Given the description of an element on the screen output the (x, y) to click on. 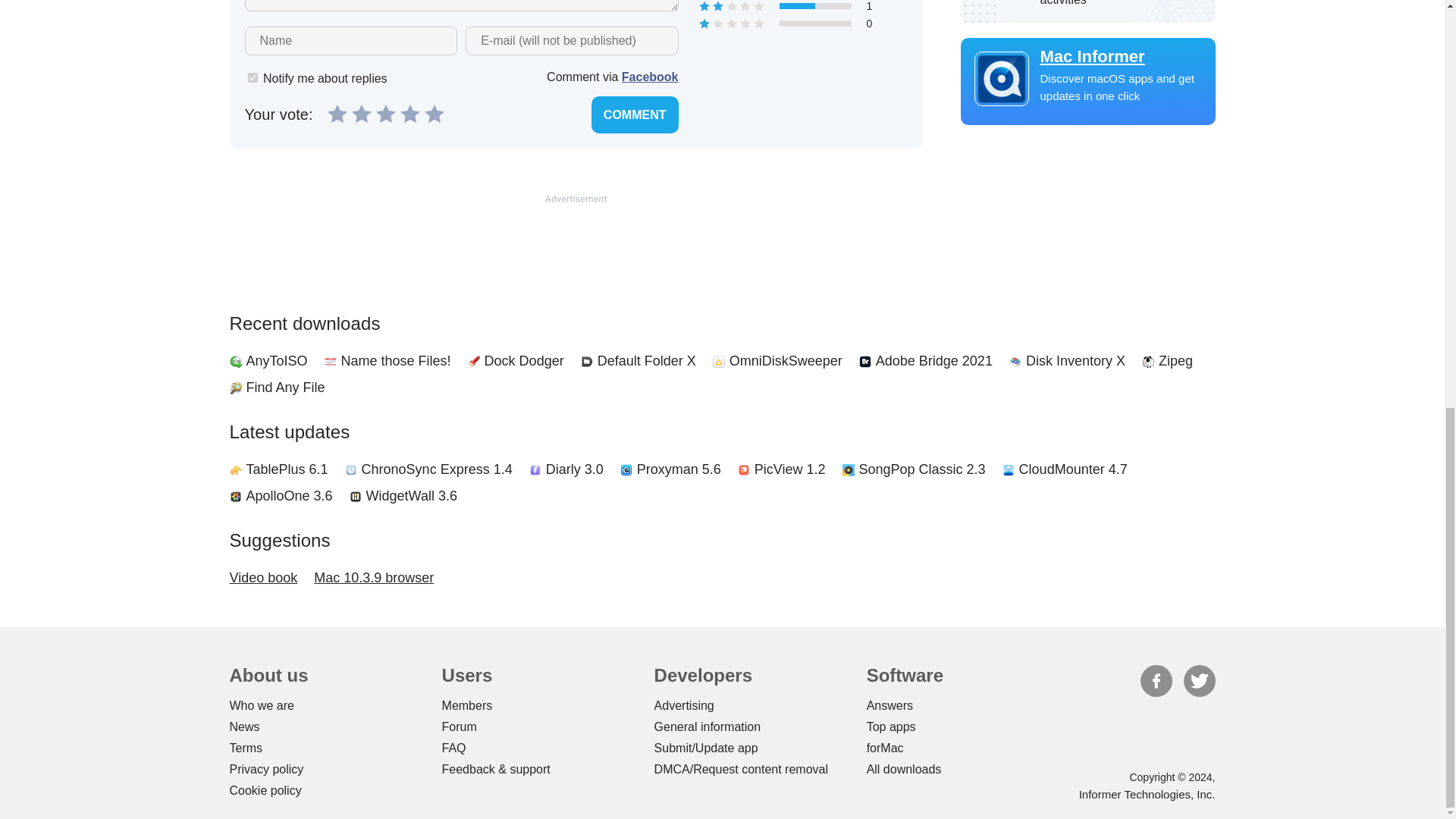
5 (434, 113)
1 (336, 113)
2 (361, 113)
Comment (634, 114)
Mac Informer (1087, 56)
Comment (634, 114)
1 (252, 77)
AnyToISO (276, 360)
3 (385, 113)
Name those Files! (395, 360)
4 (409, 113)
